Given the description of an element on the screen output the (x, y) to click on. 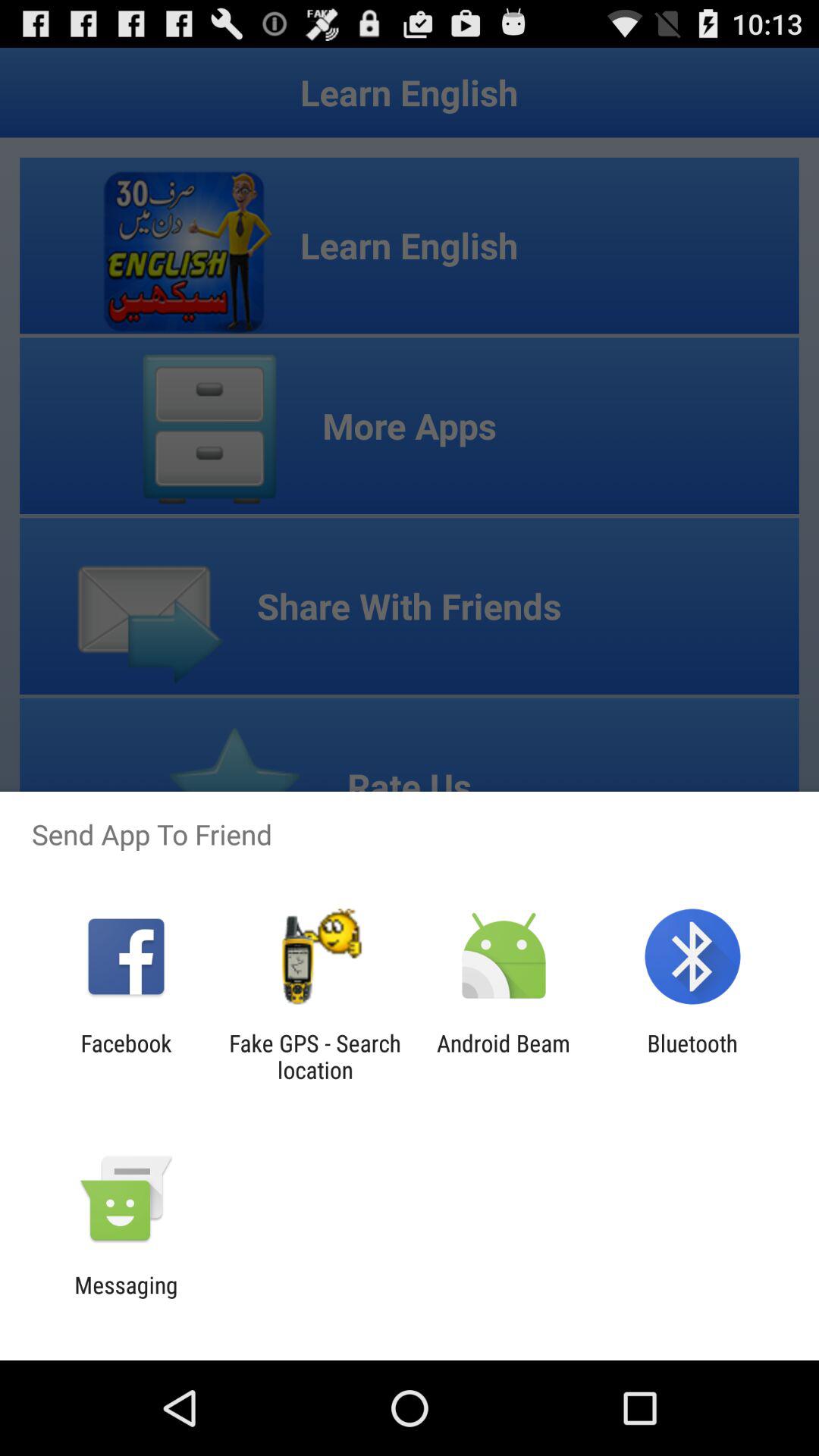
select the item next to the android beam app (314, 1056)
